Given the description of an element on the screen output the (x, y) to click on. 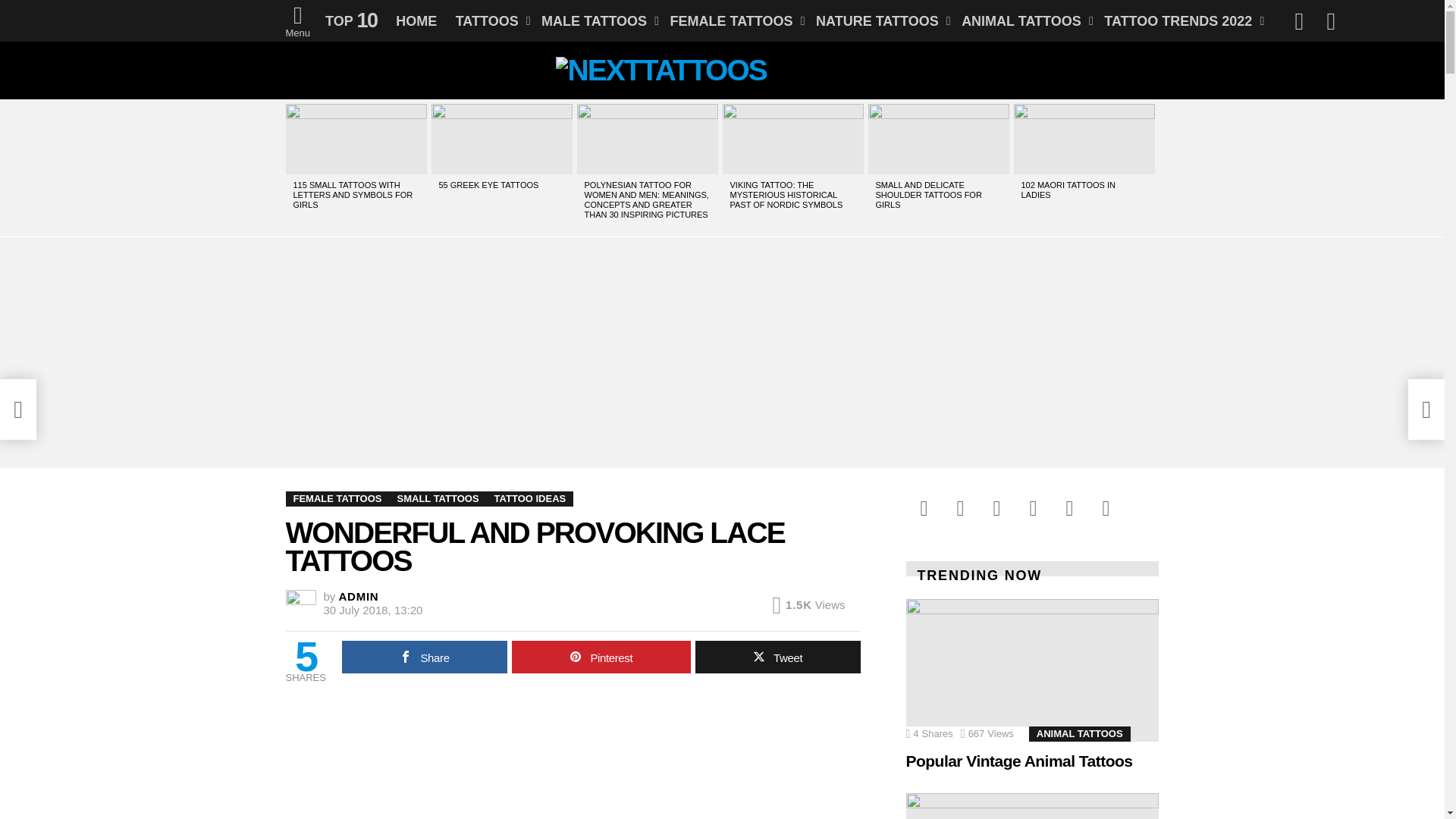
TATTOOS (489, 20)
NATURE TATTOOS (879, 20)
MALE TATTOOS (596, 20)
ANIMAL TATTOOS (1023, 20)
TOP 10 (351, 20)
FEMALE TATTOOS (733, 20)
HOME (416, 20)
